Given the description of an element on the screen output the (x, y) to click on. 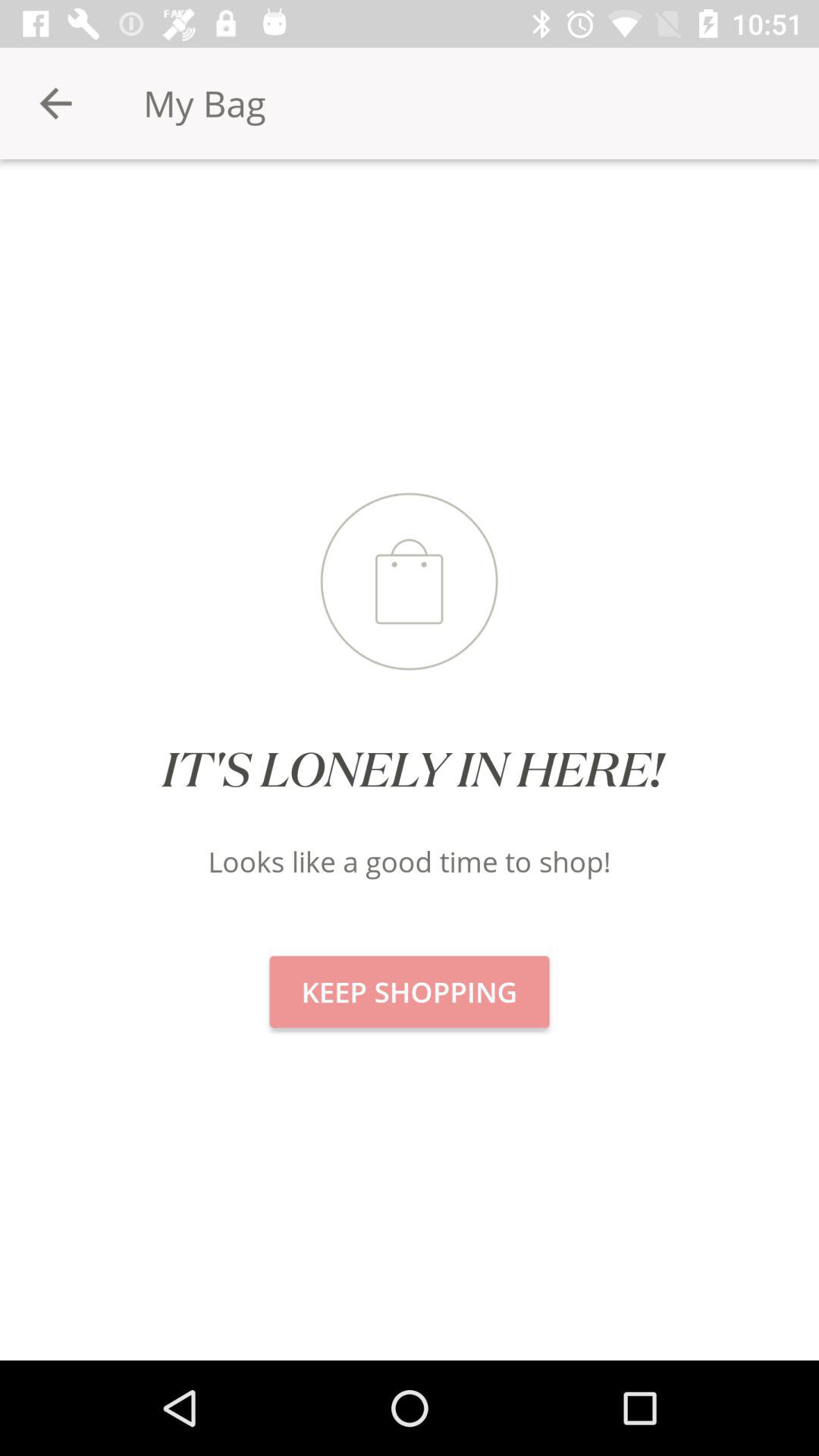
press the item at the top left corner (55, 103)
